Given the description of an element on the screen output the (x, y) to click on. 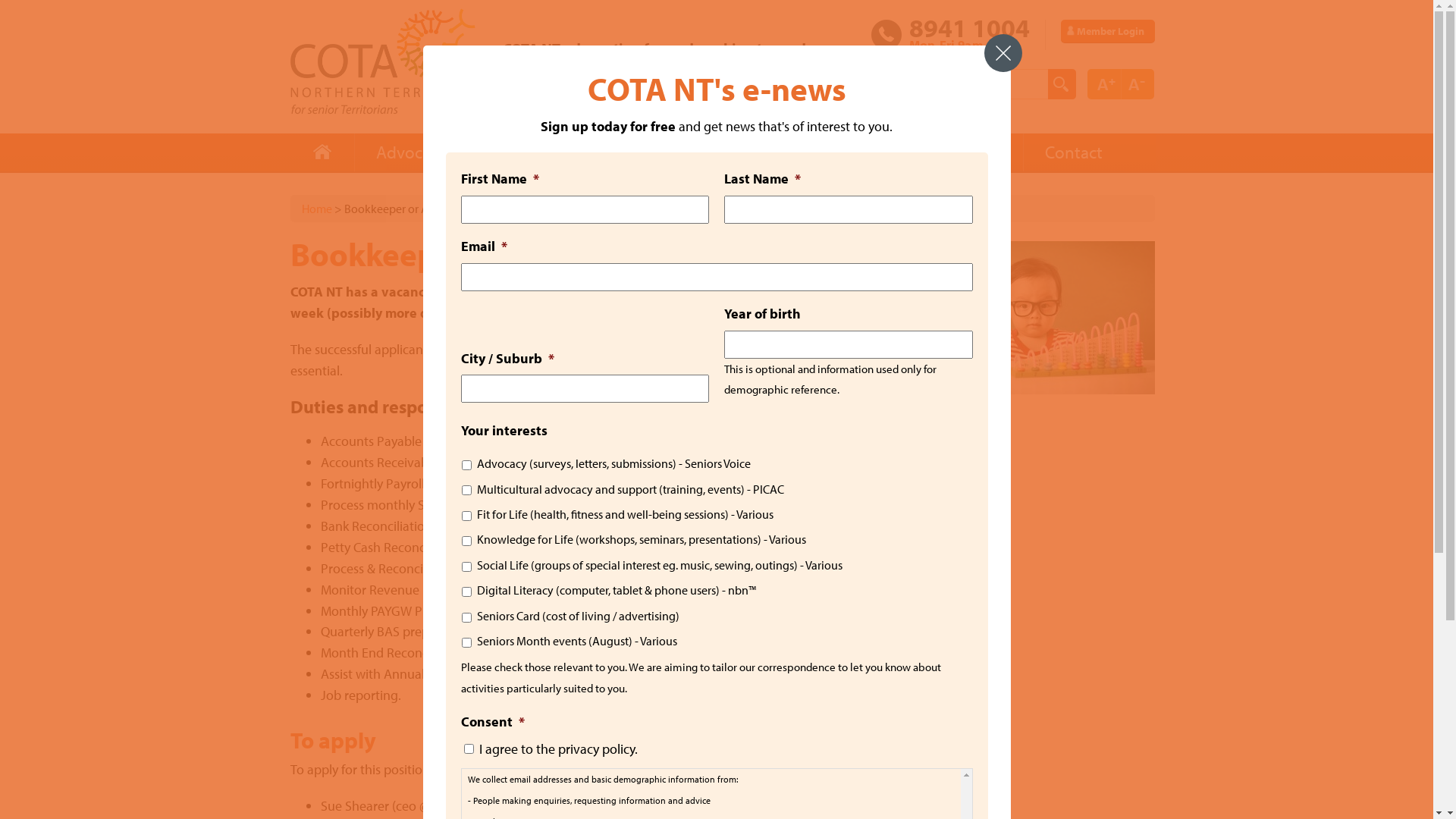
Contact Element type: text (1072, 152)
Employment Application Form Element type: text (644, 769)
Support Element type: text (881, 152)
Programs Element type: text (689, 152)
Home Element type: text (316, 208)
Close Element type: text (1003, 53)
Member Login Element type: text (1107, 30)
Info Element type: text (503, 152)
Events Element type: text (585, 152)
News Element type: text (787, 152)
About Element type: text (977, 152)
Home Element type: text (321, 152)
Advocacy Element type: text (410, 152)
